Given the description of an element on the screen output the (x, y) to click on. 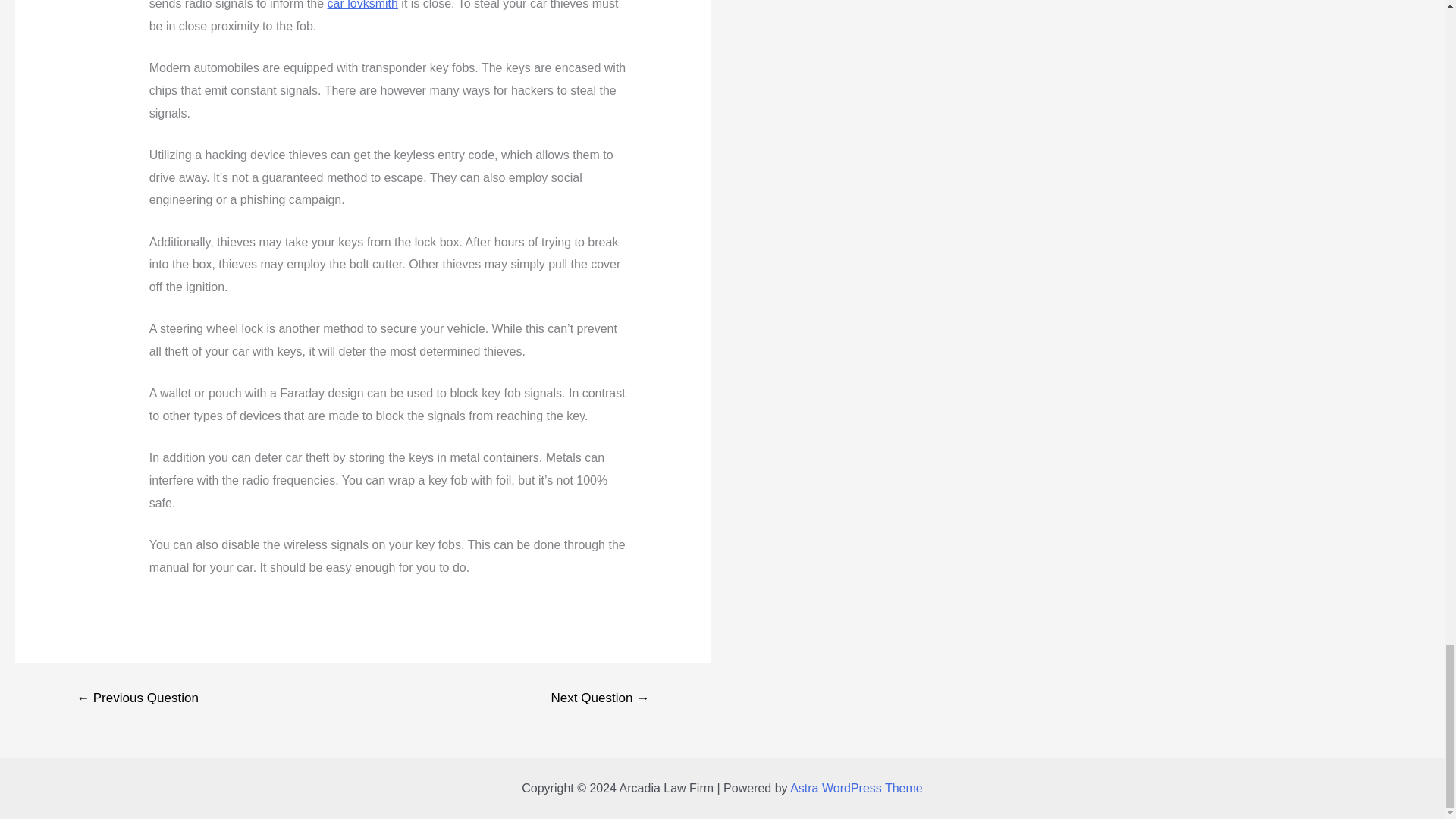
car lovksmith (362, 4)
